Given the description of an element on the screen output the (x, y) to click on. 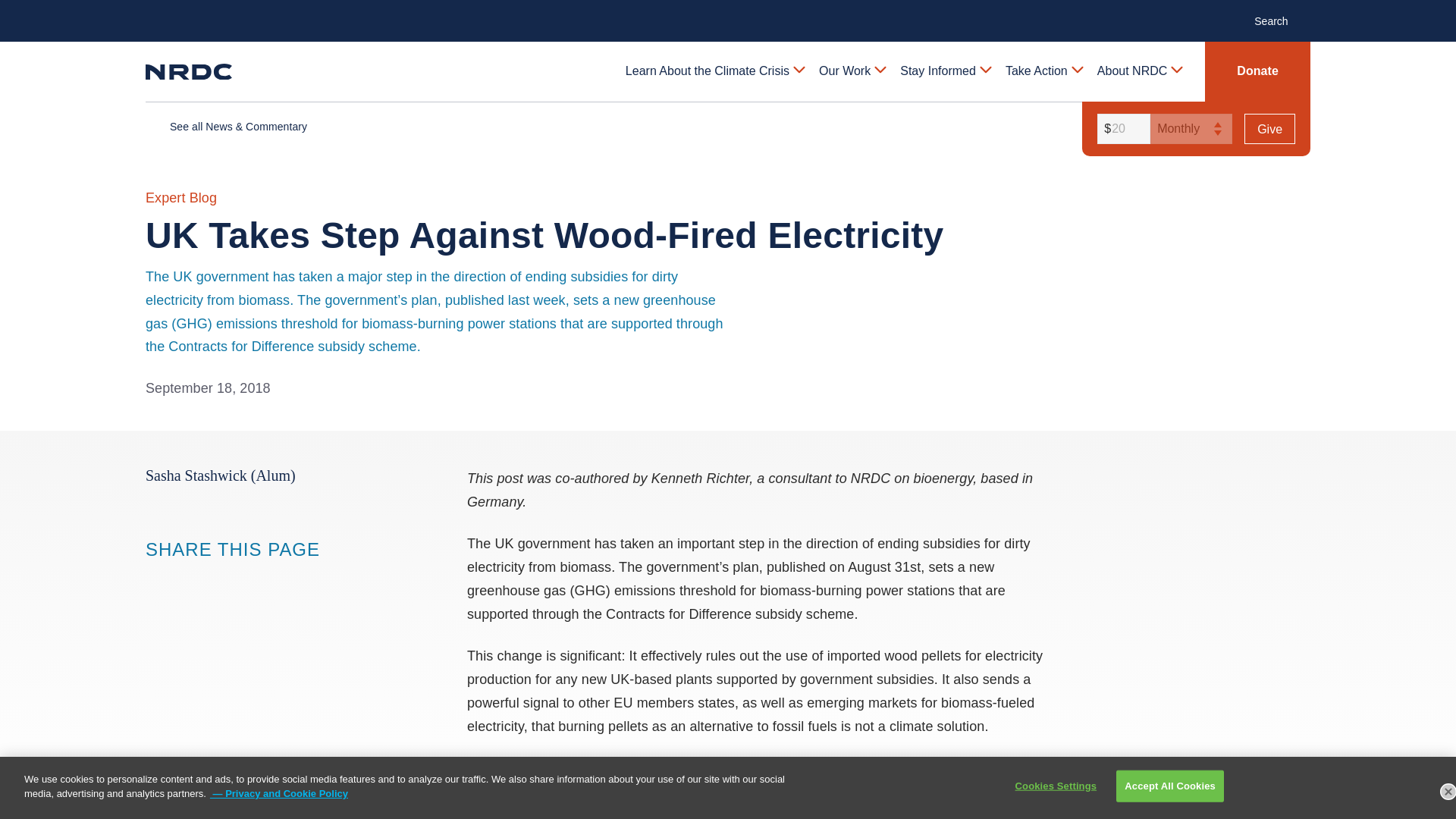
Learn About the Climate Crisis (714, 71)
20 (1120, 128)
Our Work (850, 71)
Share this page block (186, 578)
Share this page block (156, 578)
Stay Informed (944, 71)
Search (1278, 19)
Skip to main content (727, 12)
Share this page block (216, 578)
